Given the description of an element on the screen output the (x, y) to click on. 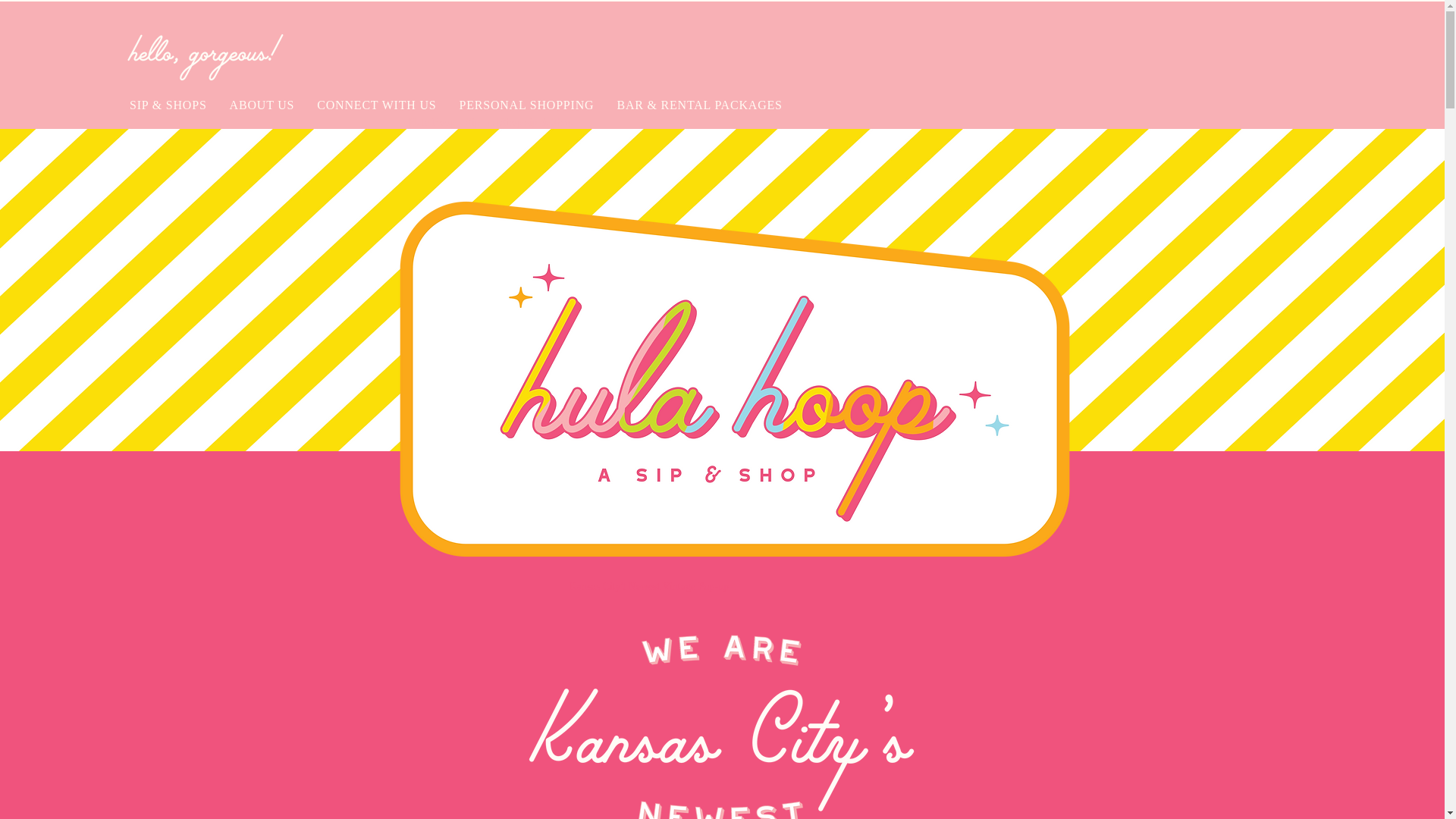
ABOUT US (261, 104)
PERSONAL SHOPPING (525, 104)
CONNECT WITH US (376, 104)
